Given the description of an element on the screen output the (x, y) to click on. 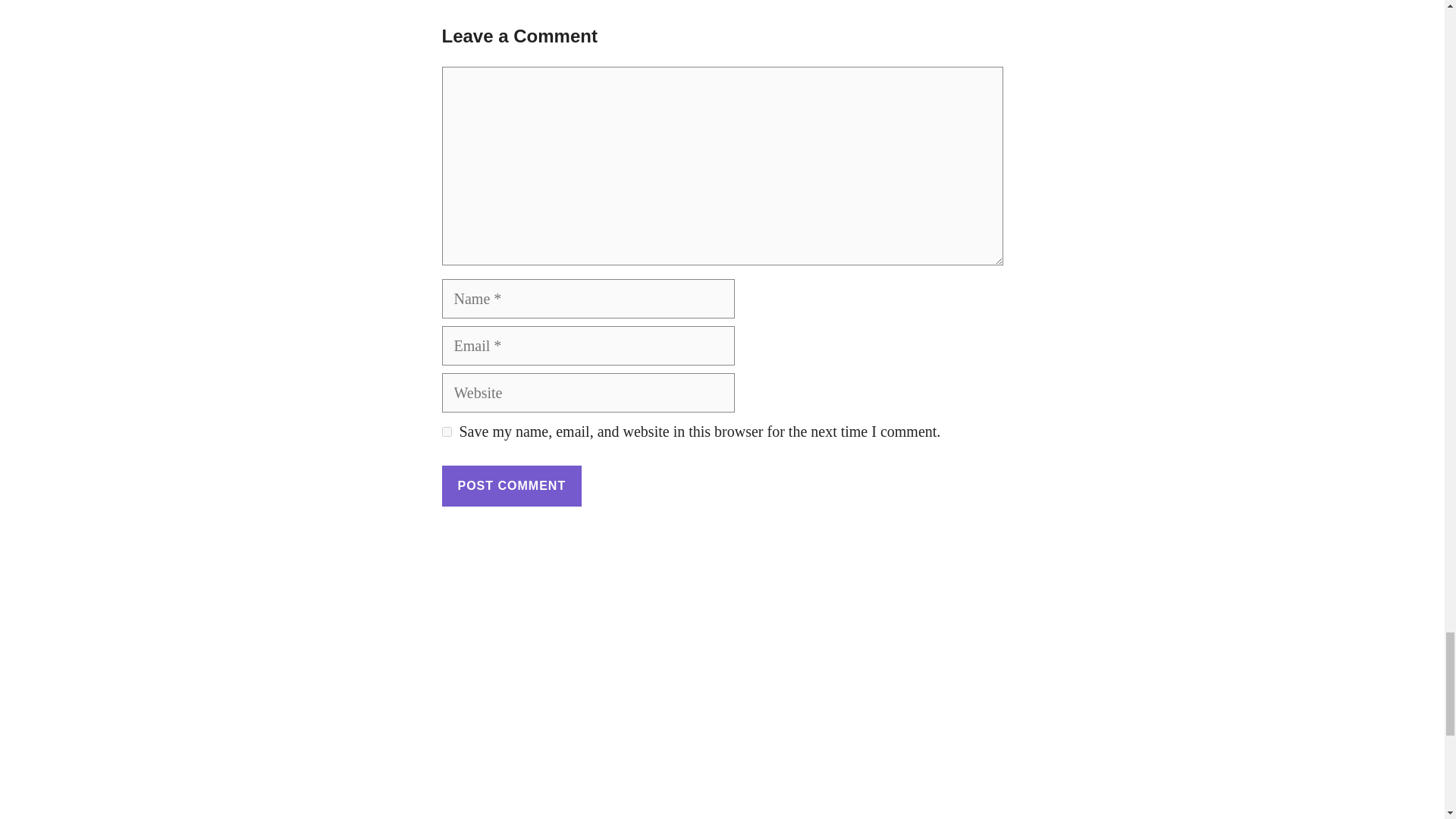
Post Comment (510, 486)
Post Comment (510, 486)
yes (446, 431)
